Given the description of an element on the screen output the (x, y) to click on. 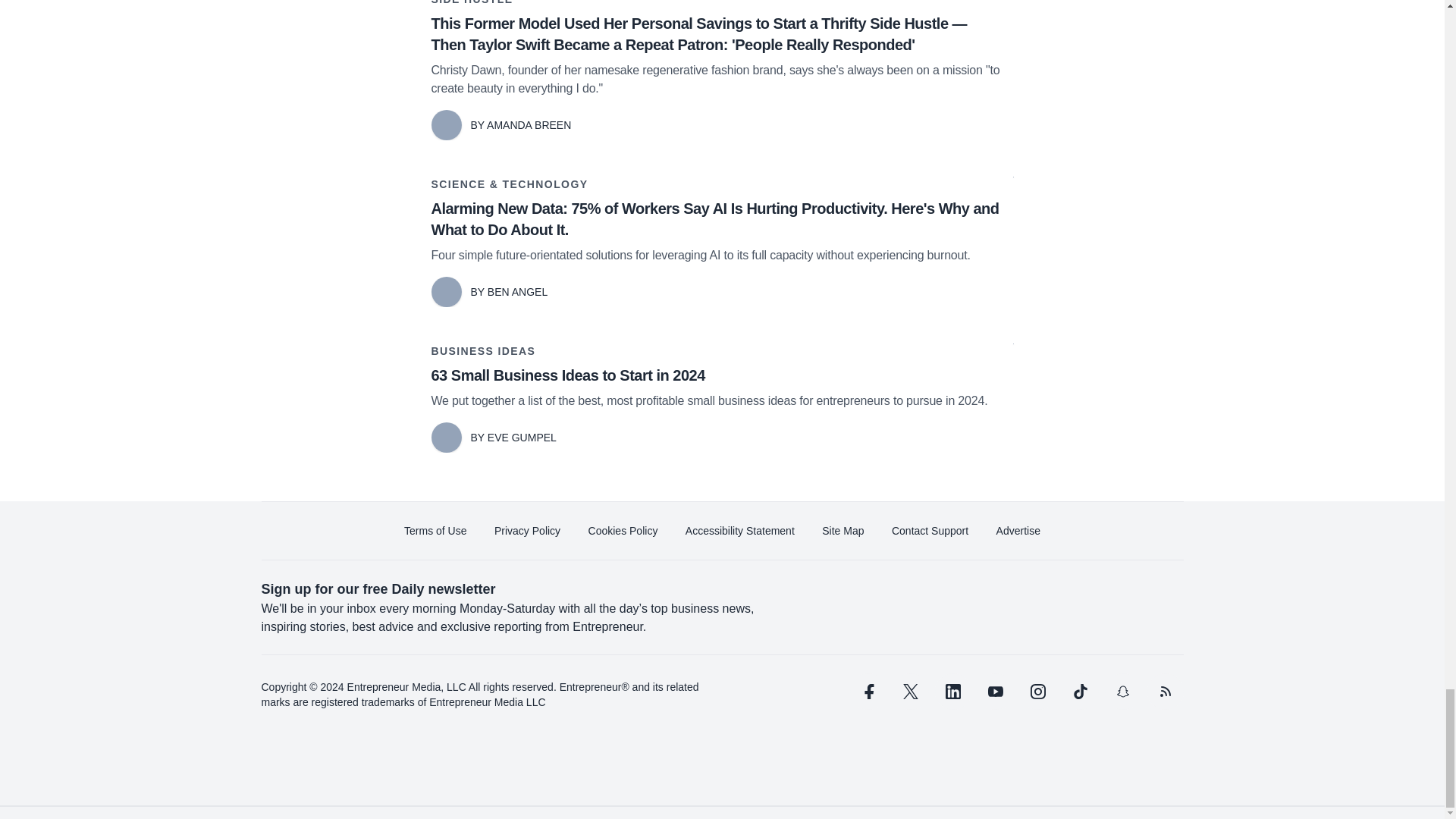
youtube (994, 691)
twitter (909, 691)
tiktok (1079, 691)
linkedin (952, 691)
snapchat (1121, 691)
facebook (866, 691)
instagram (1037, 691)
